Given the description of an element on the screen output the (x, y) to click on. 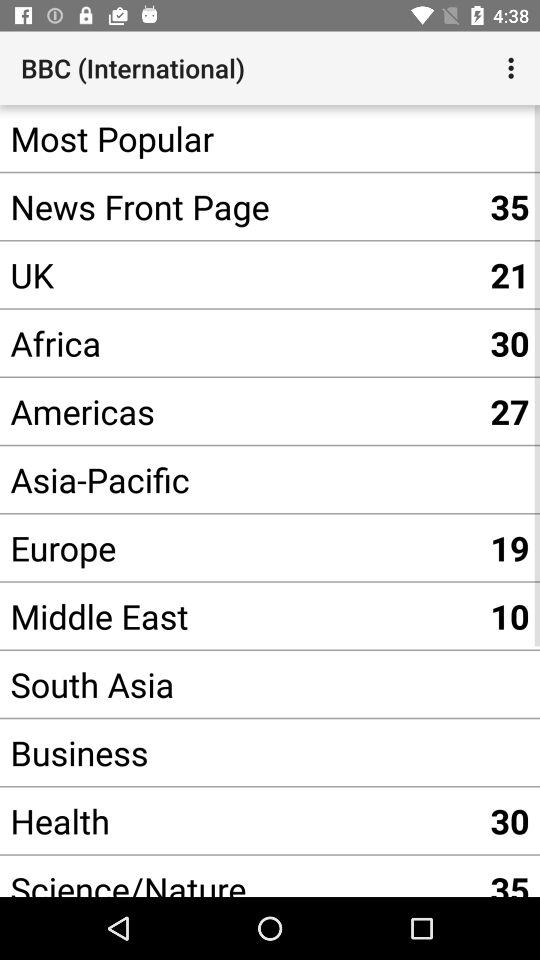
open item below the bbc (international) item (240, 138)
